Given the description of an element on the screen output the (x, y) to click on. 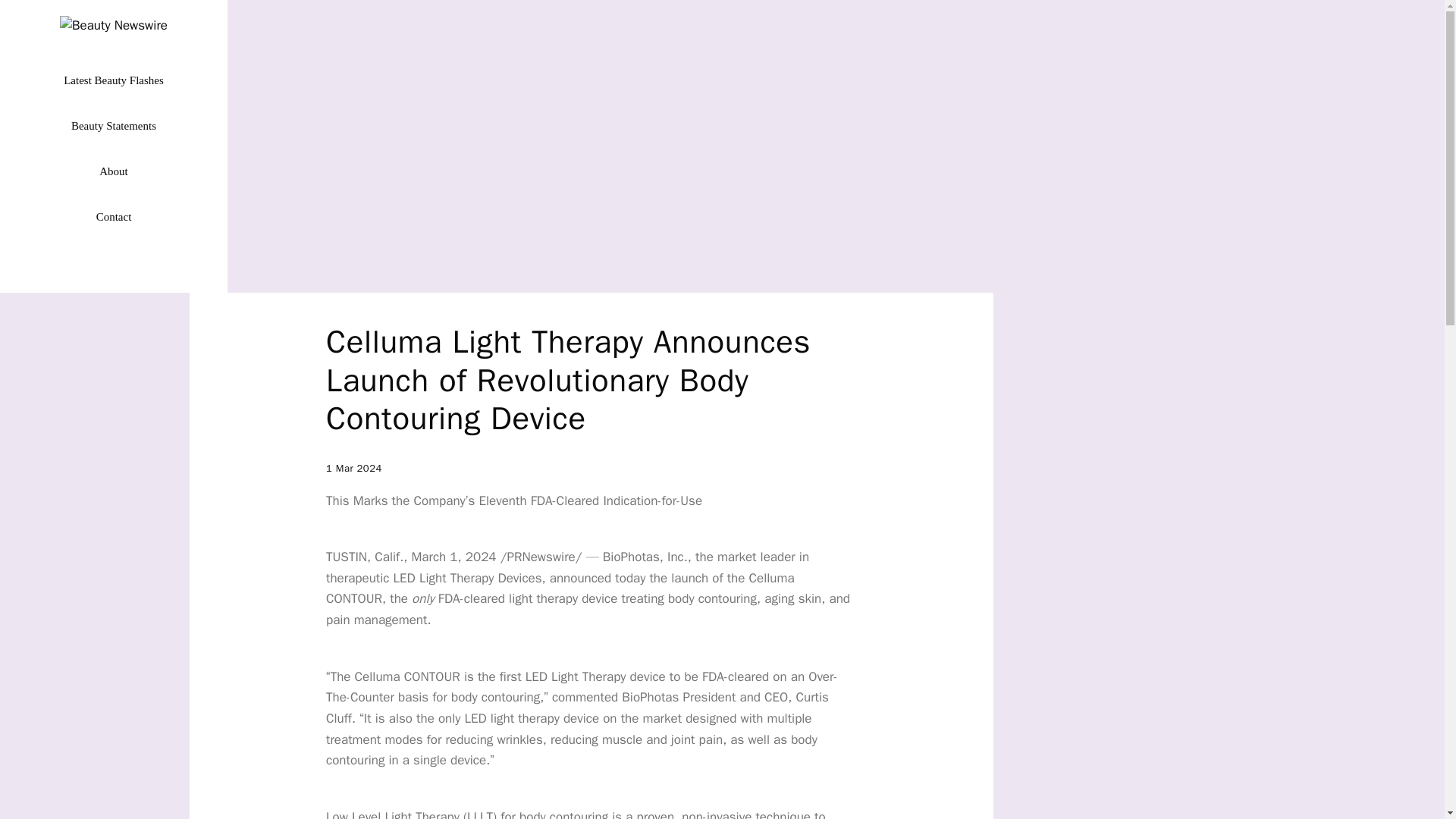
Latest Beauty Flashes (113, 80)
Contact (113, 216)
Beauty Statements (113, 125)
About (113, 171)
